Given the description of an element on the screen output the (x, y) to click on. 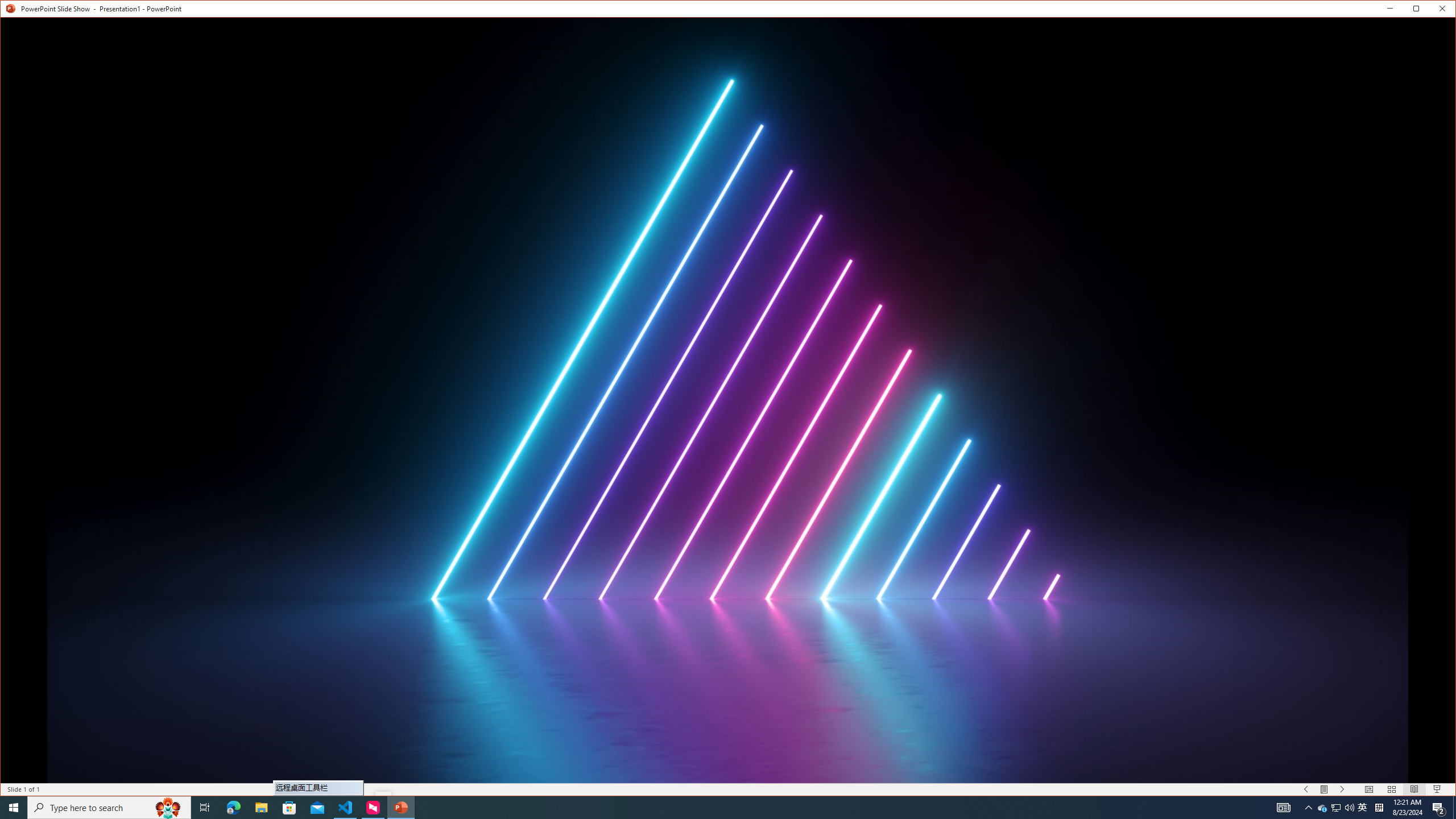
Slide Show Previous On (1306, 789)
